Given the description of an element on the screen output the (x, y) to click on. 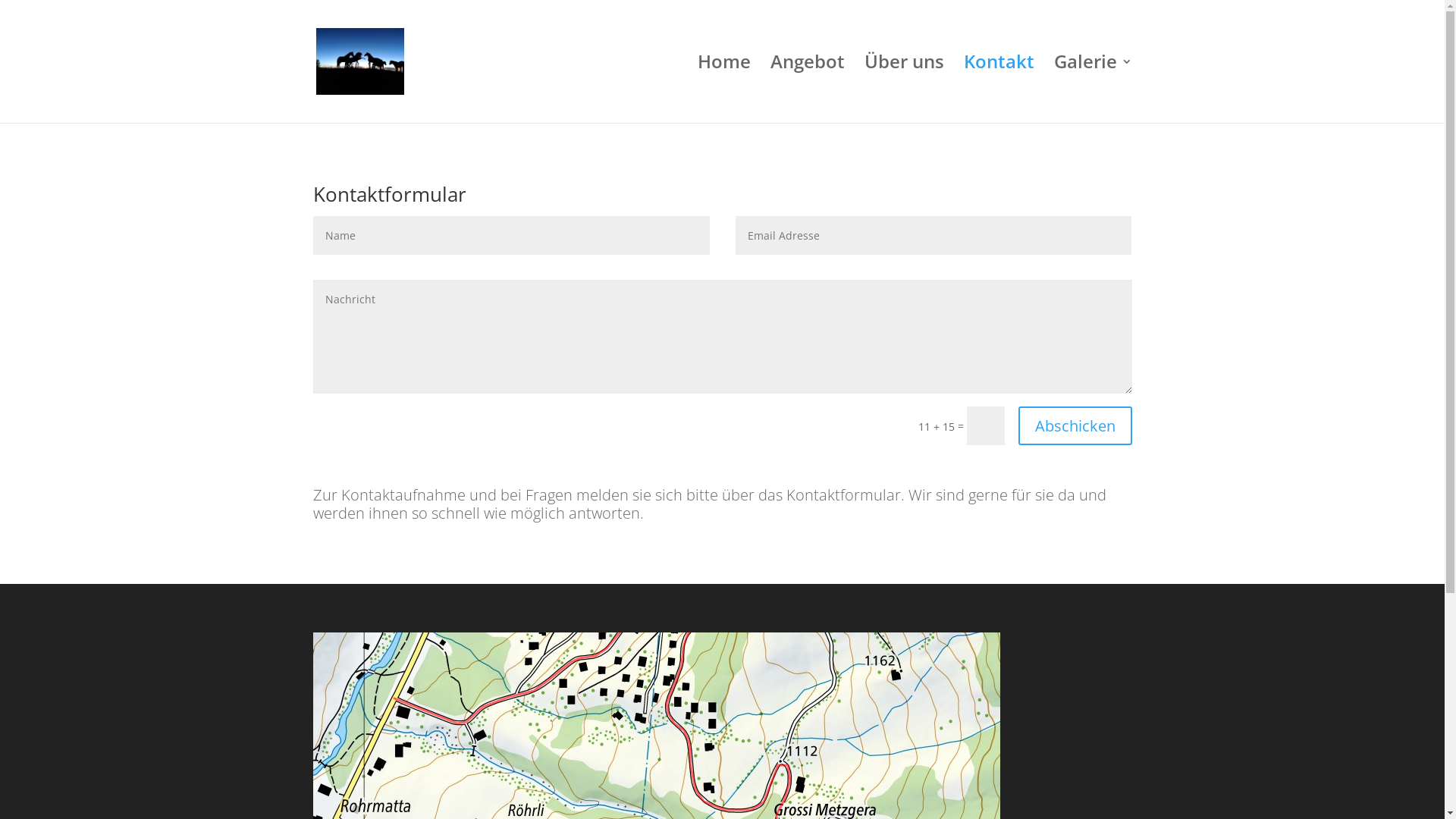
Home Element type: text (723, 89)
Kontakt Element type: text (998, 89)
Angebot Element type: text (807, 89)
Galerie Element type: text (1093, 89)
Abschicken Element type: text (1074, 425)
